Given the description of an element on the screen output the (x, y) to click on. 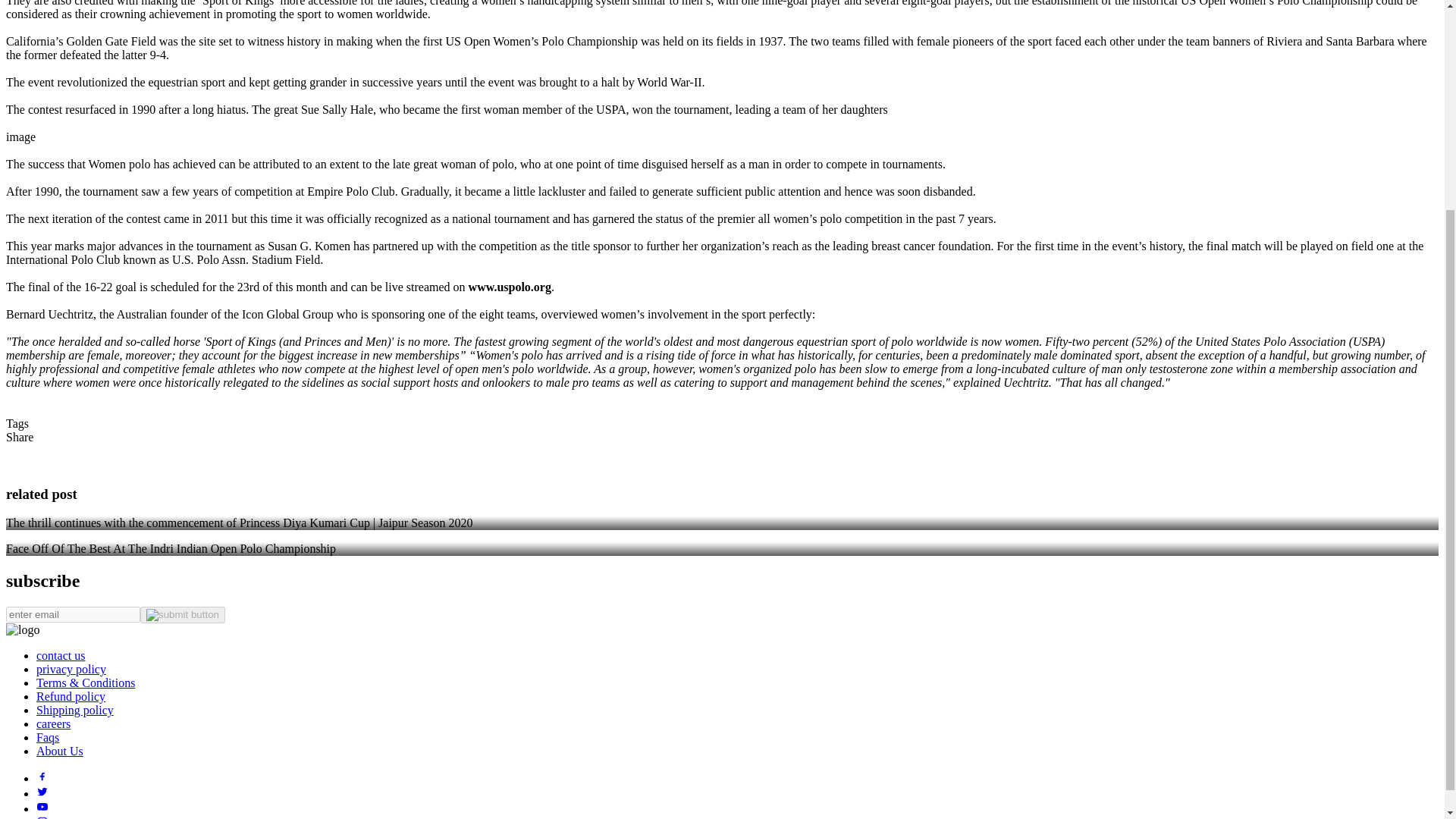
Refund policy (70, 696)
About Us (59, 750)
Shipping policy (74, 709)
contact us (60, 655)
Faqs (47, 737)
careers (52, 723)
privacy policy (71, 668)
